Given the description of an element on the screen output the (x, y) to click on. 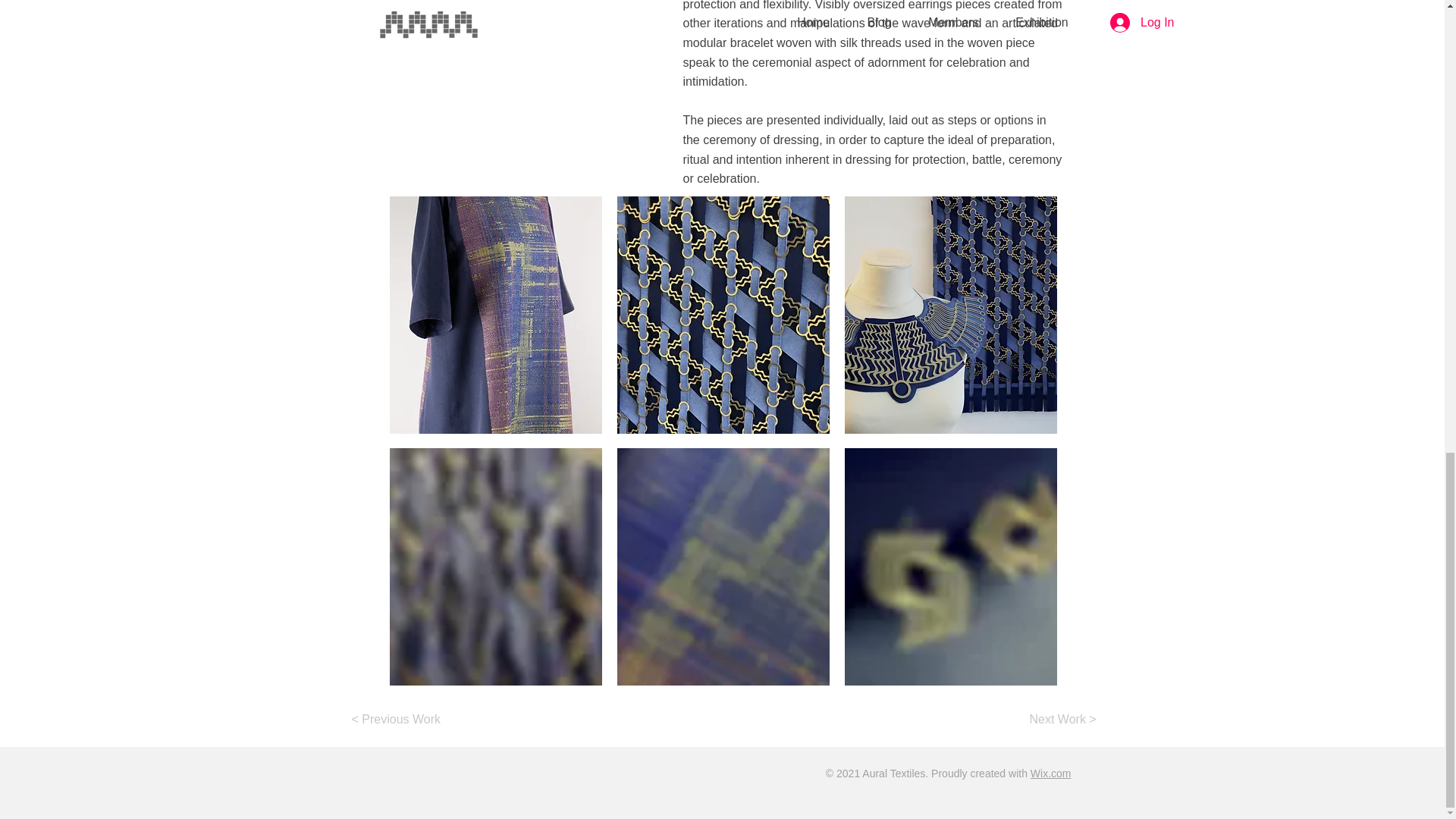
Wix.com (1050, 773)
